Given the description of an element on the screen output the (x, y) to click on. 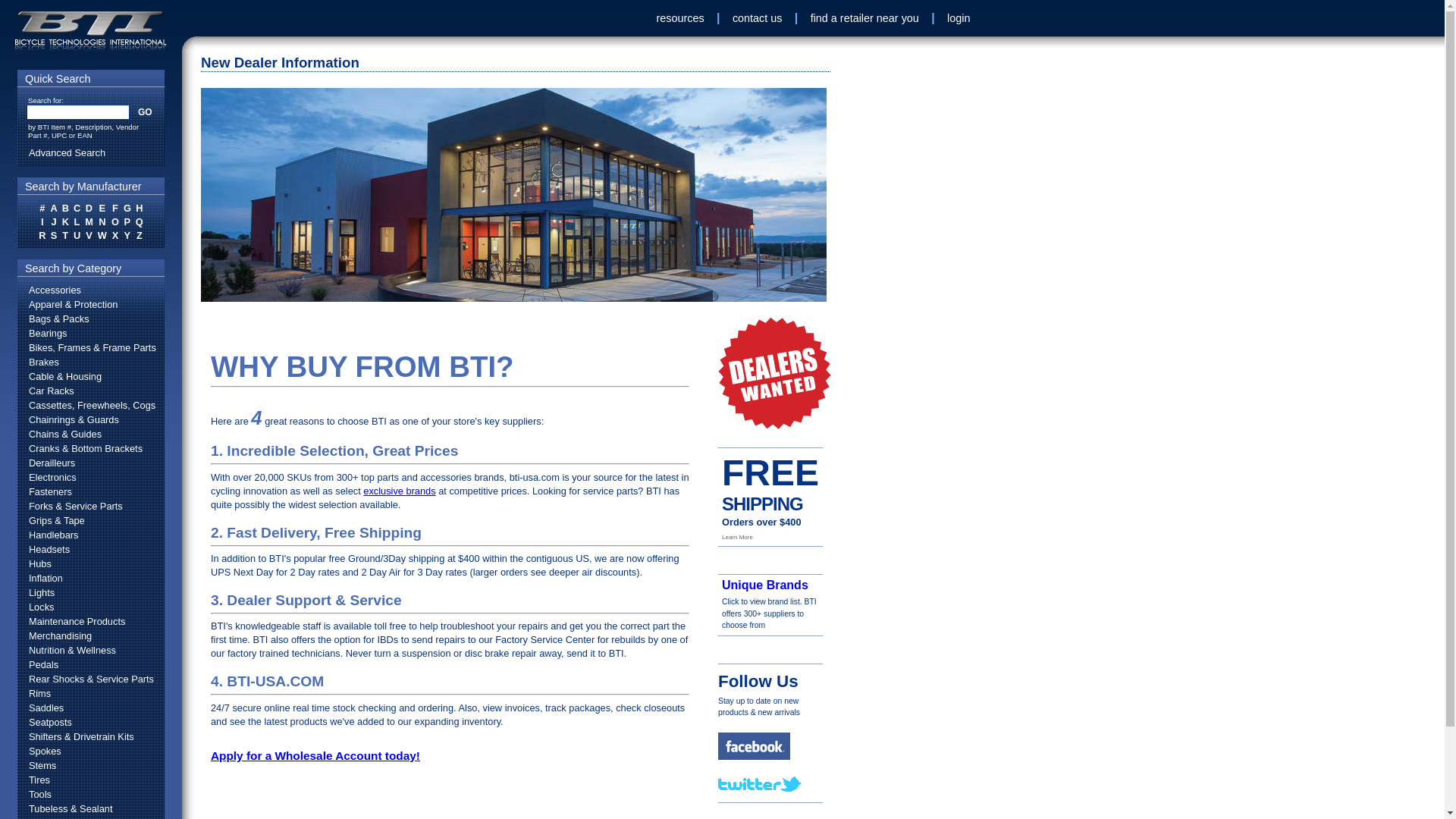
GO (144, 111)
O (114, 221)
Q (139, 221)
Cassettes, Freewheels, Cogs (90, 405)
G (126, 207)
Accessories (90, 289)
GO (144, 111)
Advanced Search (90, 152)
W (102, 235)
Bearings (90, 332)
